Given the description of an element on the screen output the (x, y) to click on. 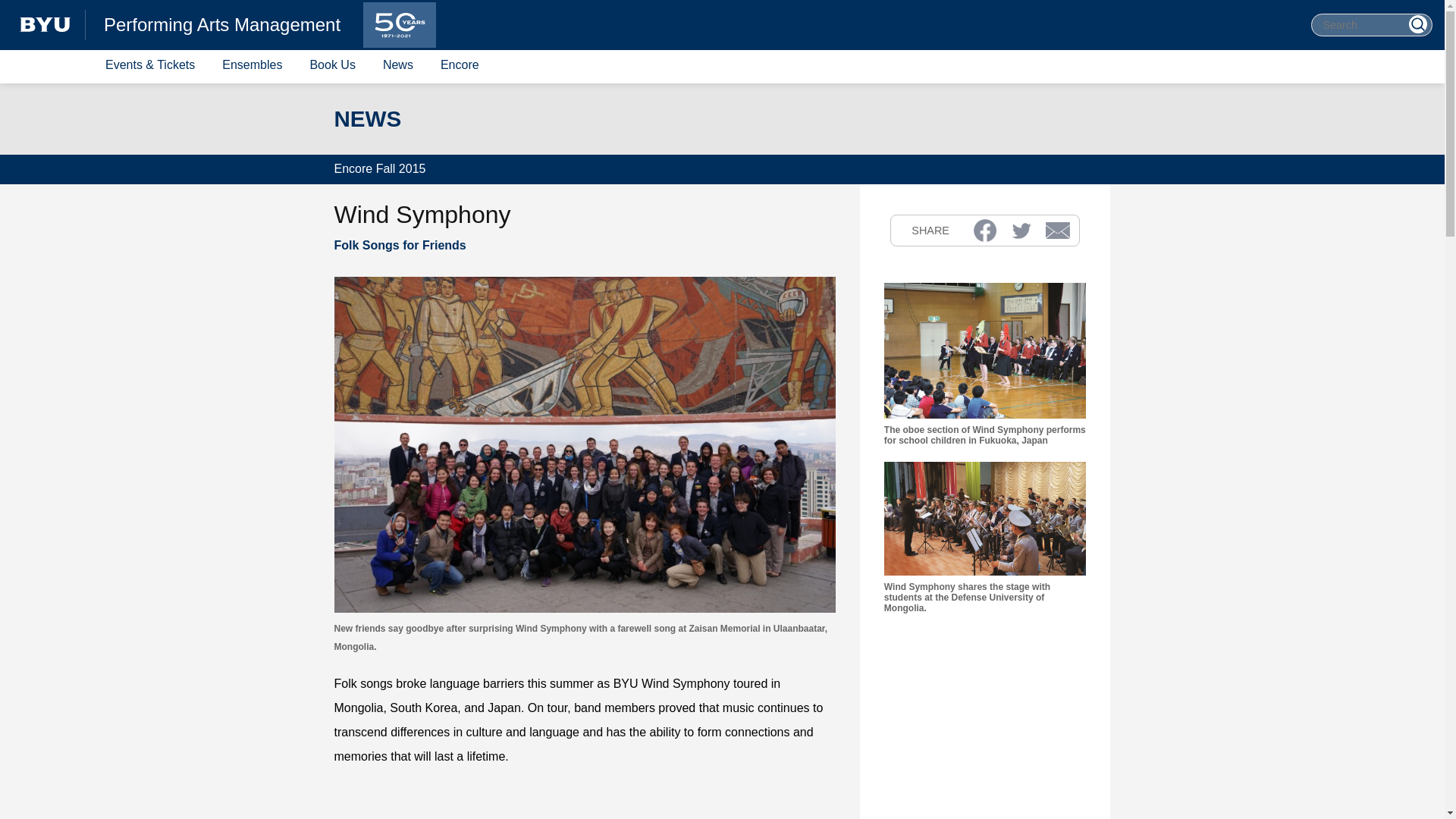
Ensembles (251, 65)
NEWS (367, 118)
News (398, 65)
Encore (458, 65)
Book Us (331, 65)
Performing Arts Management (221, 25)
